Given the description of an element on the screen output the (x, y) to click on. 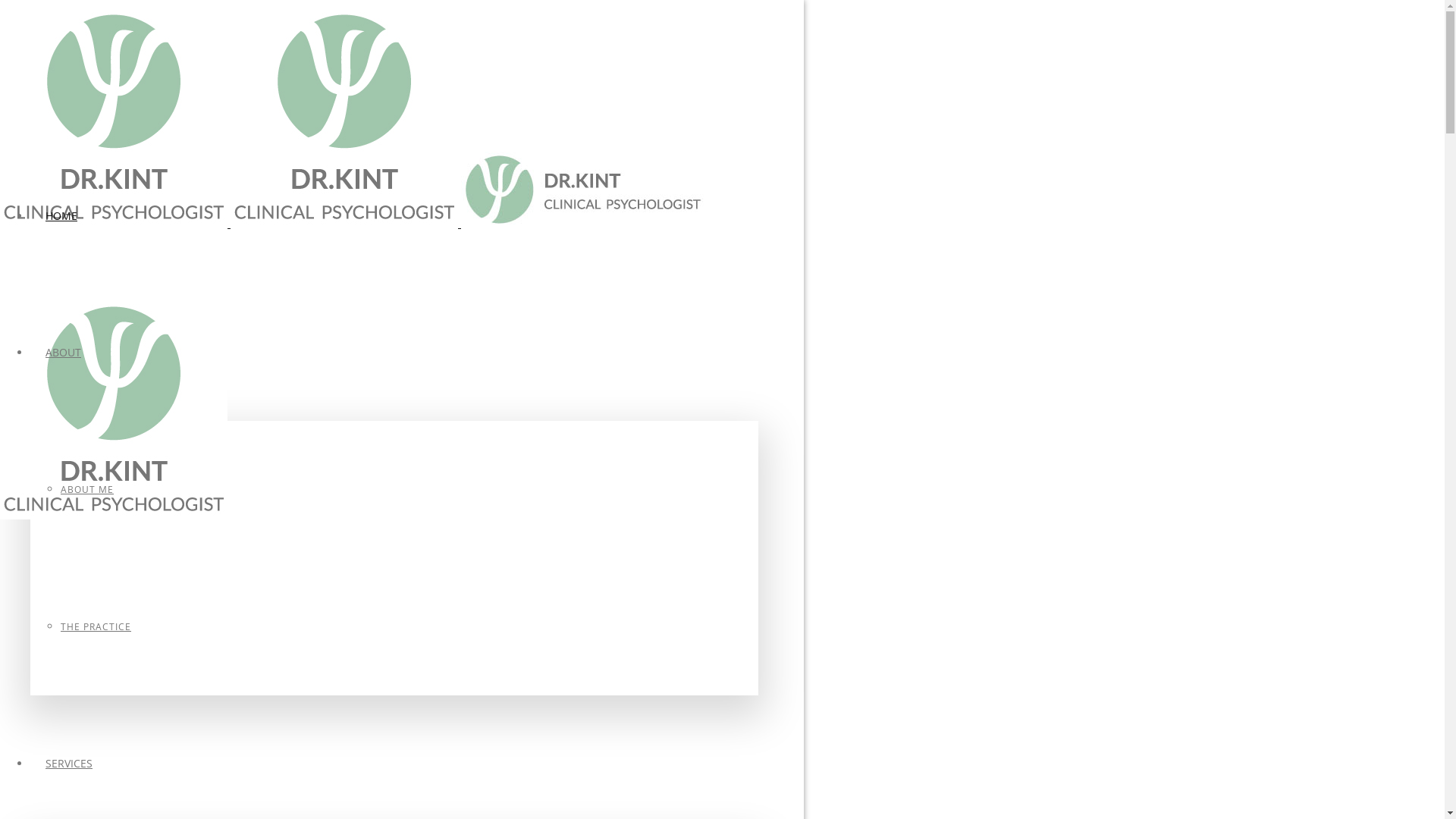
ABOUT ME Element type: text (86, 489)
SERVICES Element type: text (68, 763)
Clinical Psychologist Element type: hover (344, 113)
ABOUT Element type: text (63, 352)
Clinical Psychologist Element type: hover (113, 405)
THE PRACTICE Element type: text (95, 626)
Dr. Kint Element type: hover (351, 369)
Clinical Psychologist Element type: hover (113, 113)
HOME Element type: text (61, 215)
Clinical Psychologist Element type: hover (582, 189)
